Given the description of an element on the screen output the (x, y) to click on. 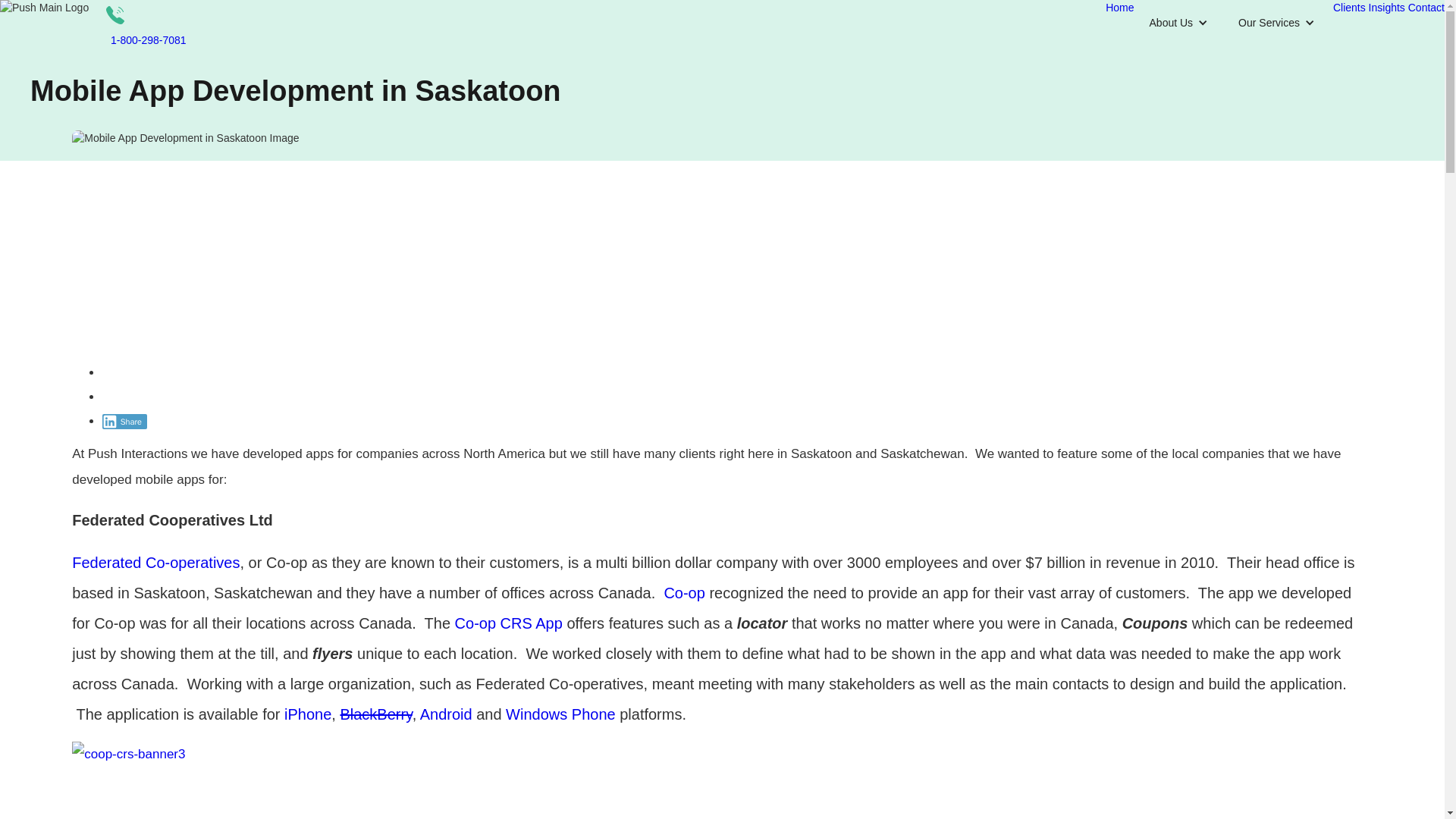
Share (124, 421)
Insights (1386, 7)
Android (445, 713)
Federated Co-operatives (155, 562)
Federated Co-op (155, 562)
Clients (1349, 7)
Co-op CRS for Windows Phone (560, 713)
Windows Phone (560, 713)
Co-op CRS App for iPhone (307, 713)
Co-op CRS (505, 623)
Home (1119, 7)
1-800-298-7081 (148, 39)
Co-op (683, 592)
Co-op CRS App for Android (445, 713)
Co-op CRS App (505, 623)
